Given the description of an element on the screen output the (x, y) to click on. 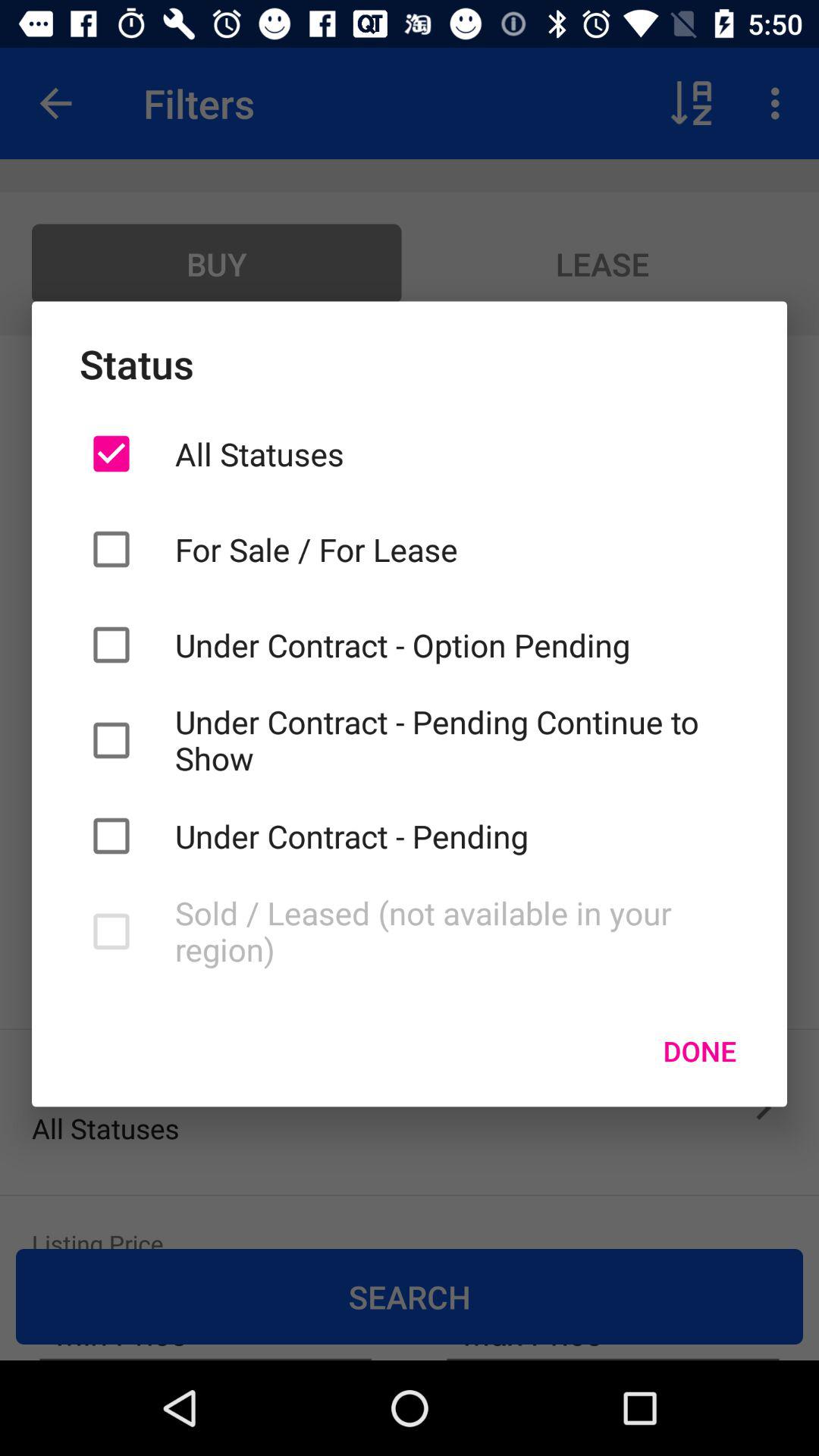
choose the item below the under contract - pending item (457, 931)
